Given the description of an element on the screen output the (x, y) to click on. 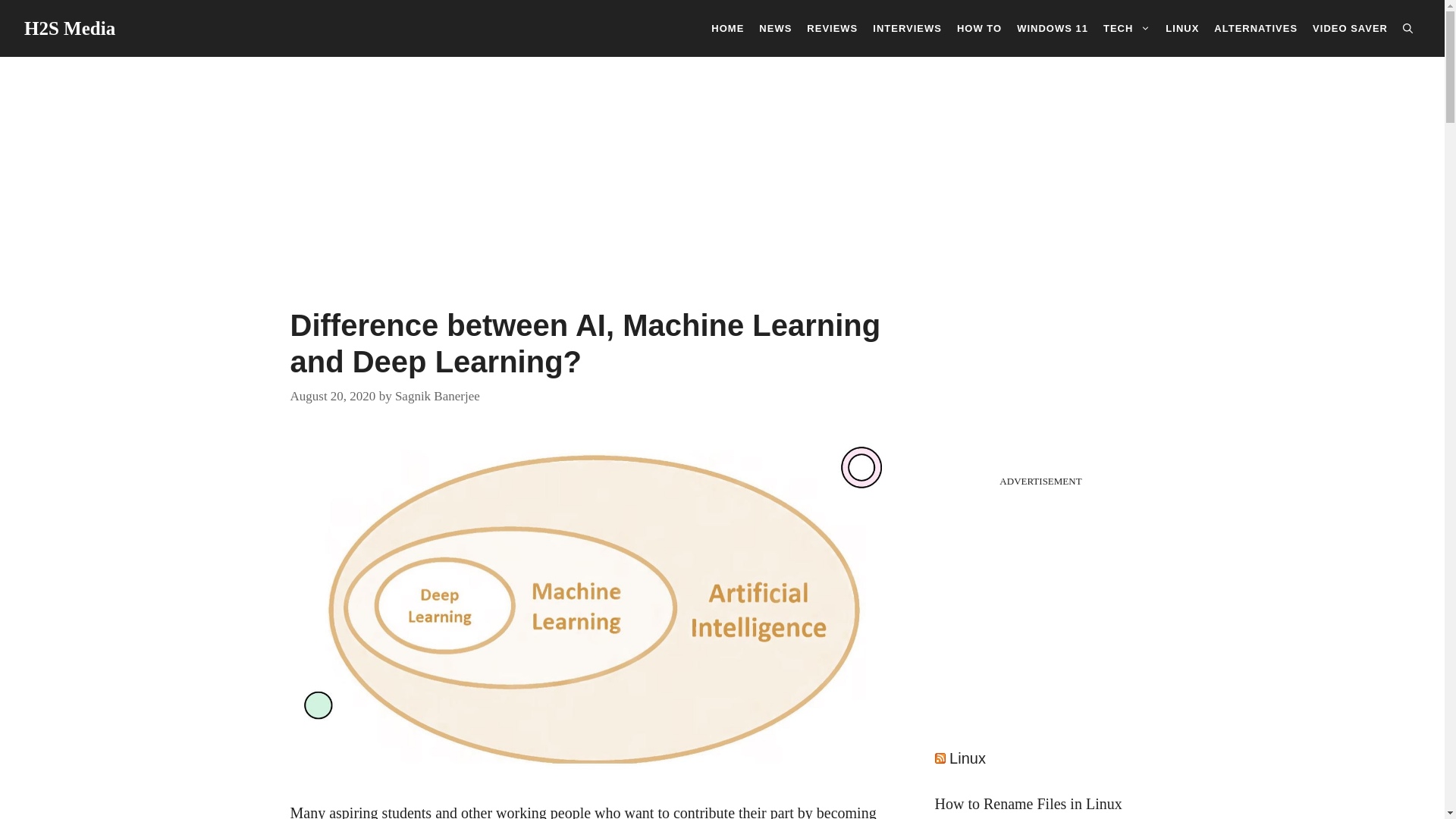
NEWS (775, 27)
VIDEO SAVER (1349, 27)
WINDOWS 11 (1052, 27)
INTERVIEWS (906, 27)
ALTERNATIVES (1255, 27)
View all posts by Sagnik Banerjee (437, 395)
TECH (1126, 27)
HOME (727, 27)
HOW TO (979, 27)
REVIEWS (831, 27)
Sagnik Banerjee (437, 395)
LINUX (1182, 27)
H2S Media (69, 28)
